Given the description of an element on the screen output the (x, y) to click on. 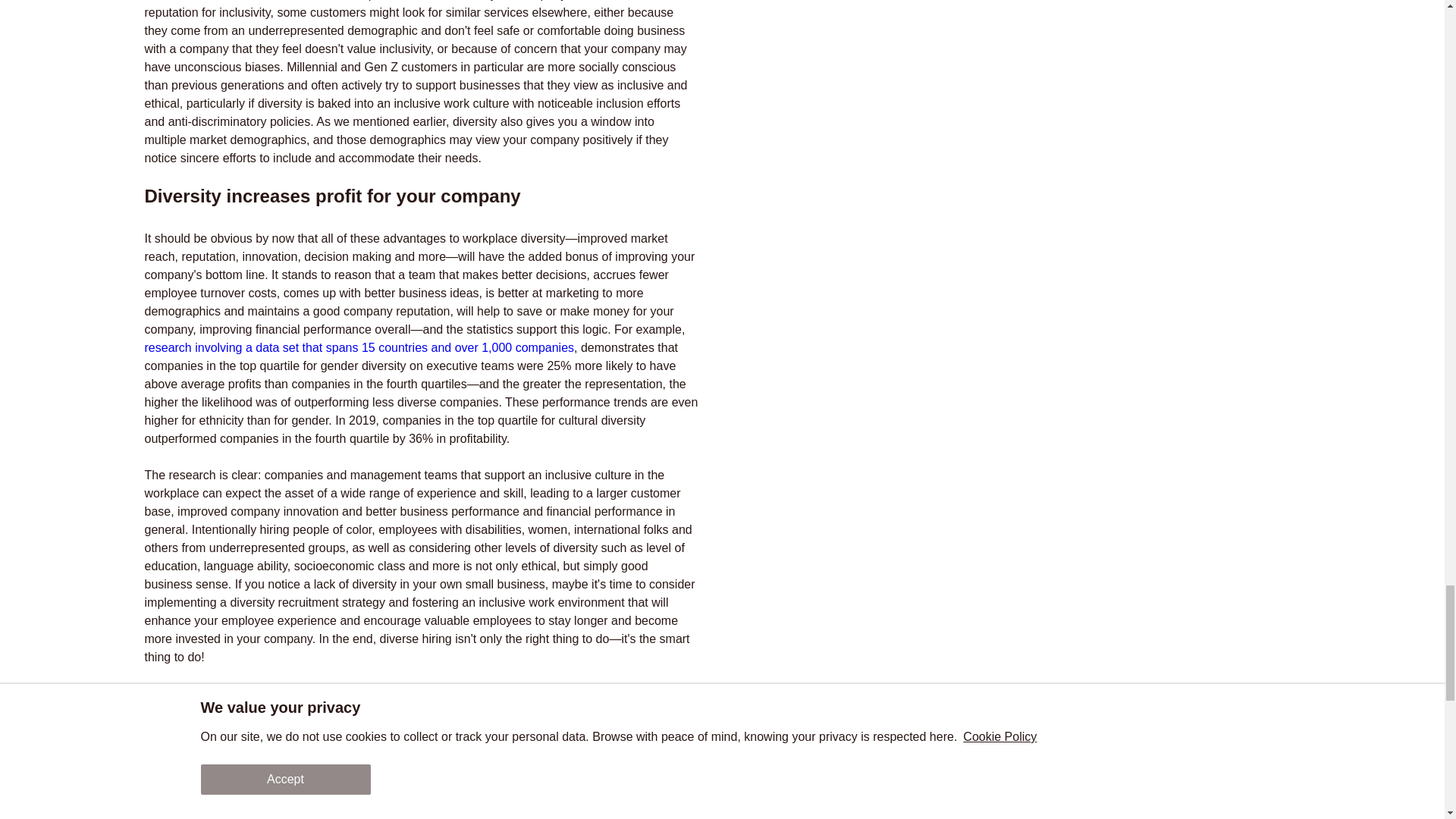
LinkedIn (375, 741)
Facebook (467, 741)
B2BeeMatch (260, 790)
Twitter (319, 741)
